Given the description of an element on the screen output the (x, y) to click on. 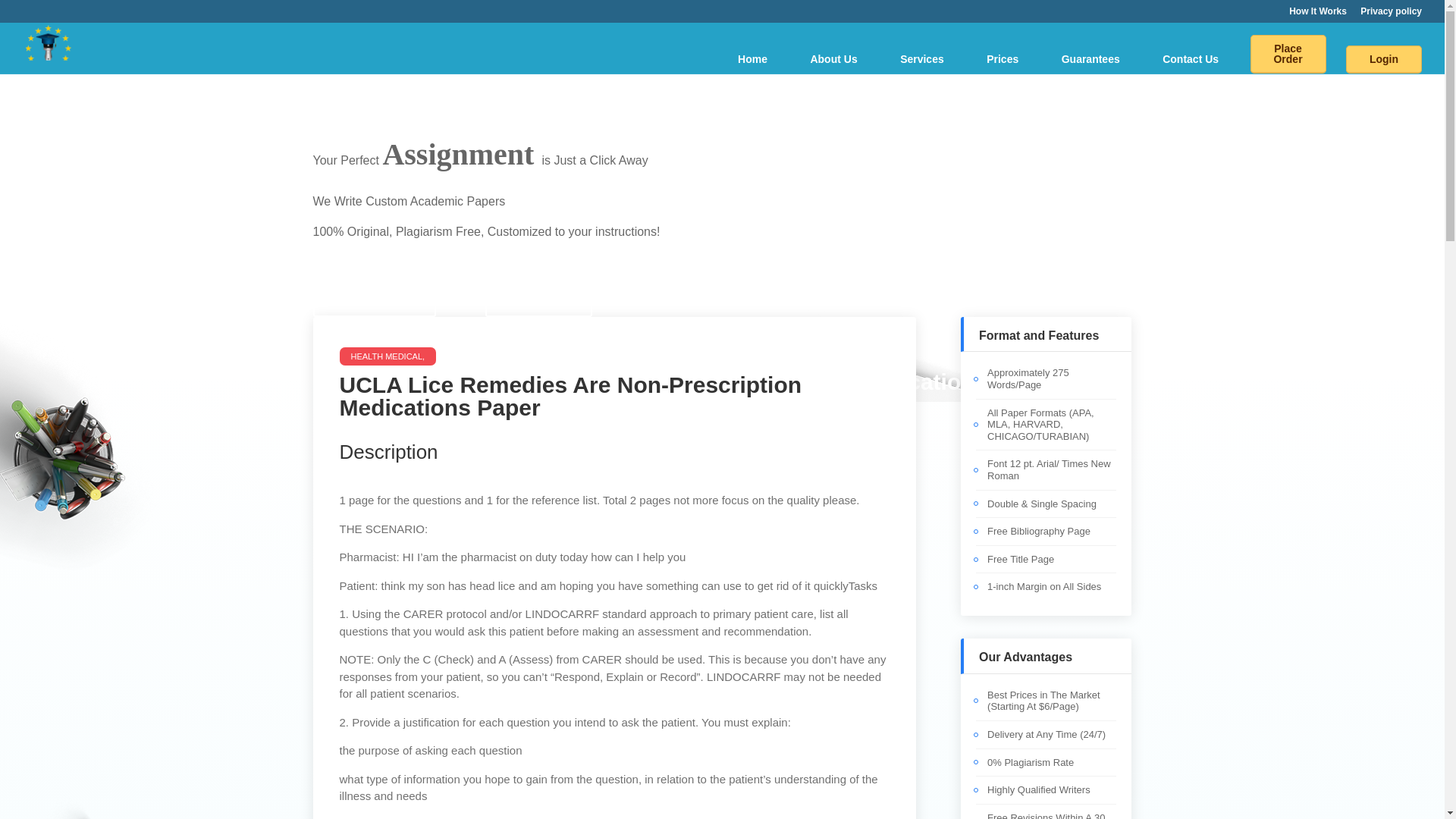
Services (921, 58)
Guarantees (1090, 58)
Privacy policy (1390, 14)
Login (1383, 59)
HEALTH MEDICAL, (387, 356)
Prices (1002, 58)
How It Works (374, 298)
HEALTH MEDICAL, (722, 428)
Contact Us (1190, 58)
About Us (832, 58)
